Given the description of an element on the screen output the (x, y) to click on. 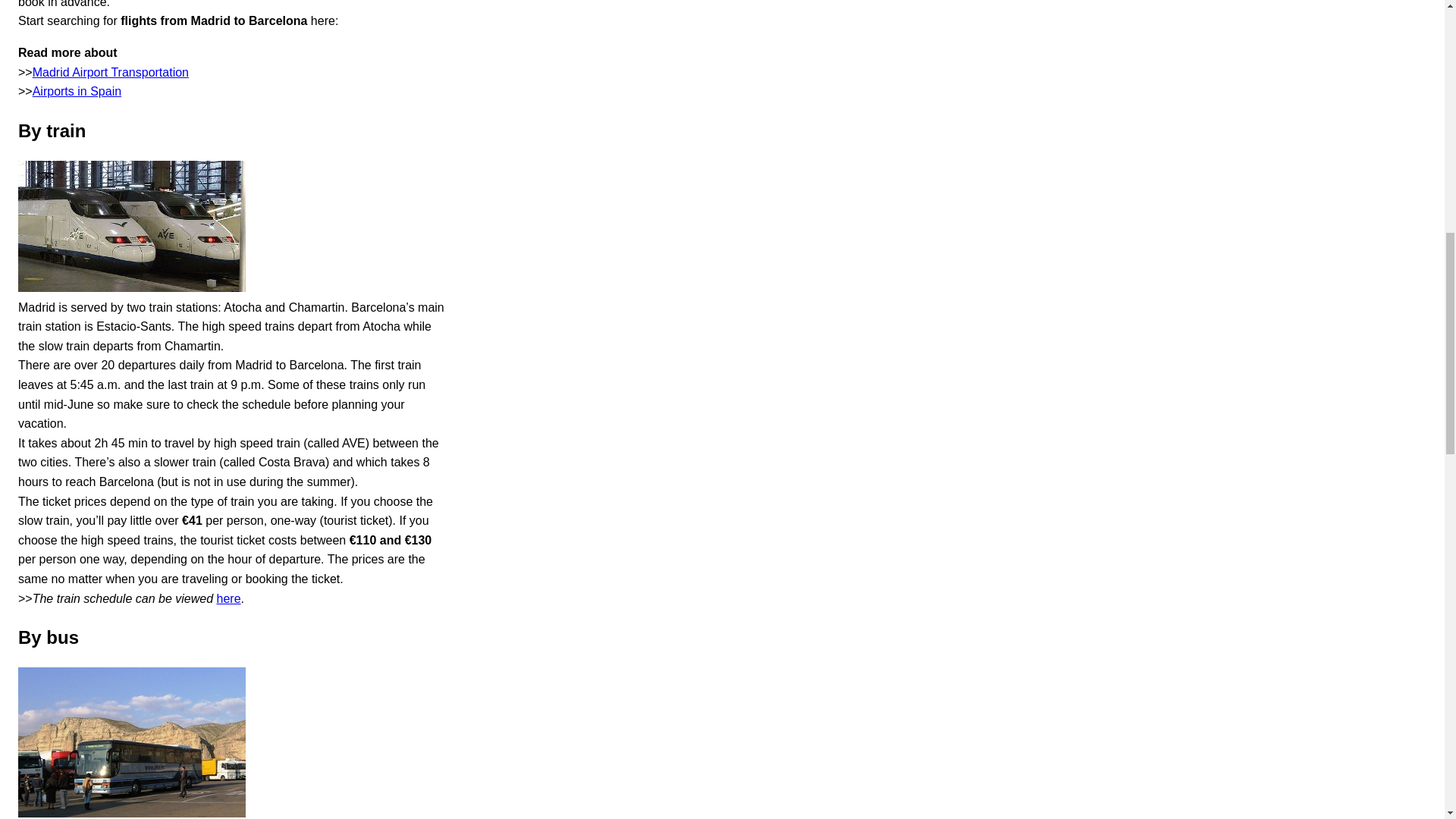
Madrid Airport Transportation (110, 72)
here (228, 598)
Airports in Spain (76, 91)
